Given the description of an element on the screen output the (x, y) to click on. 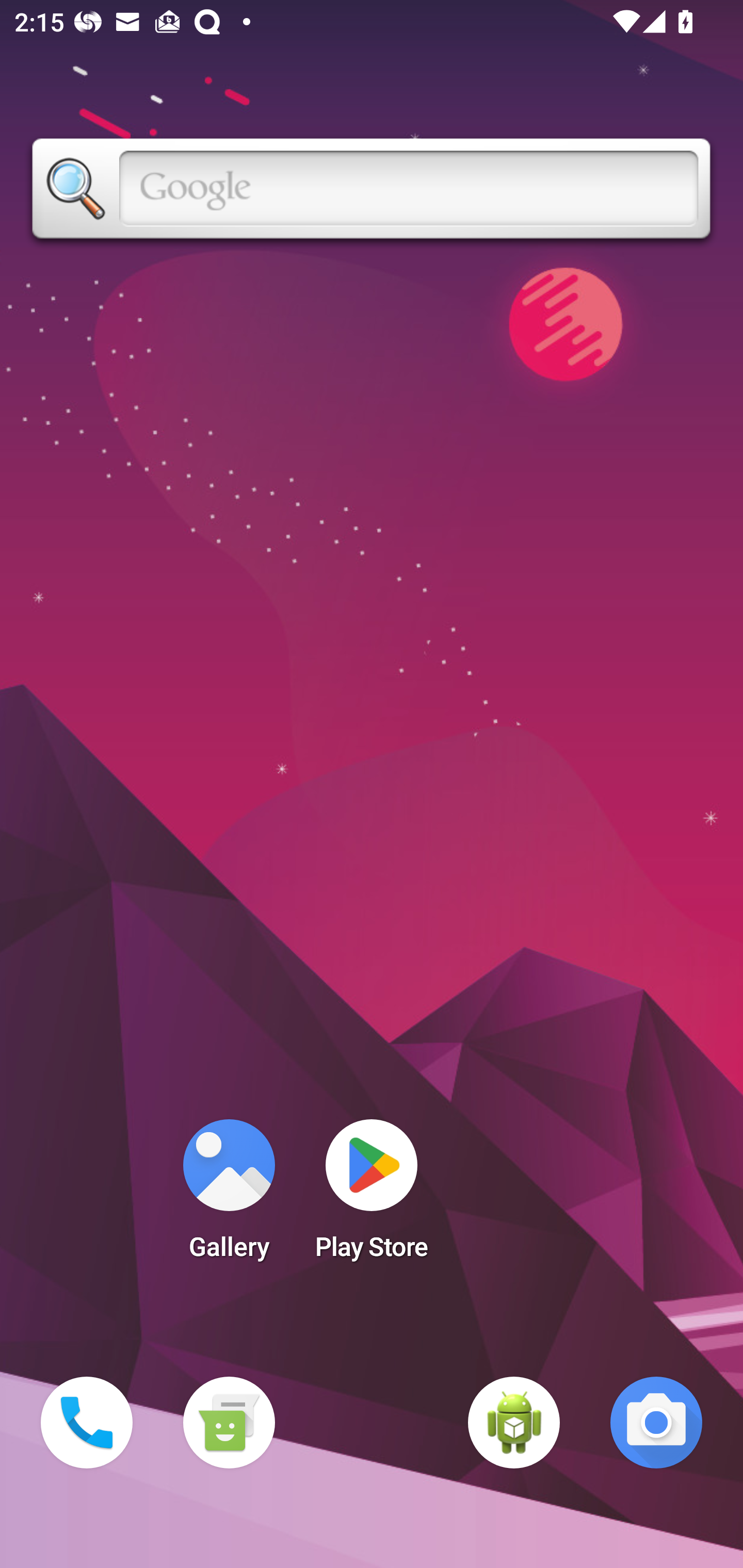
Gallery (228, 1195)
Play Store (371, 1195)
Phone (86, 1422)
Messaging (228, 1422)
WebView Browser Tester (513, 1422)
Camera (656, 1422)
